Given the description of an element on the screen output the (x, y) to click on. 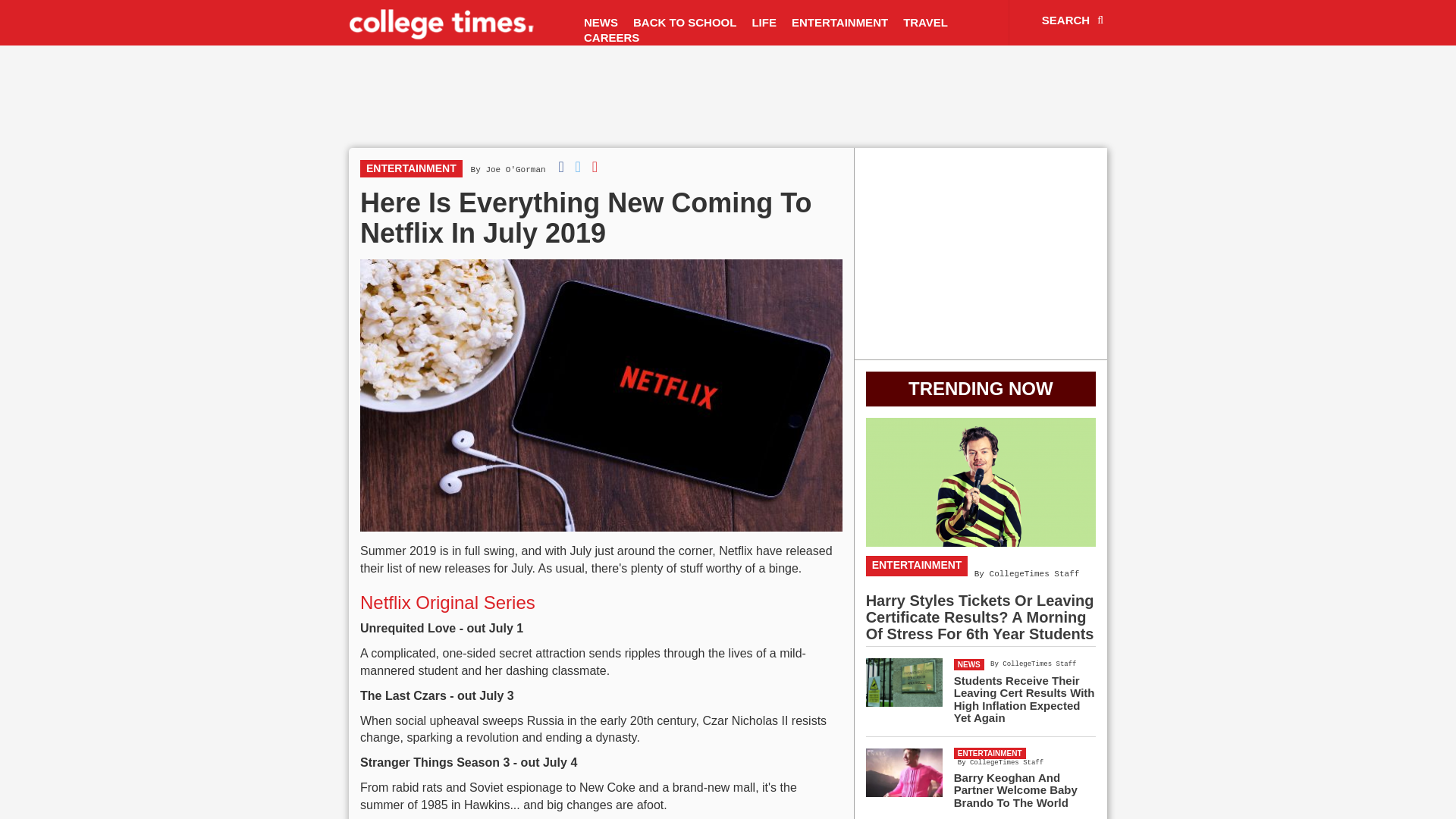
NEWS (601, 22)
CAREERS (611, 37)
ENTERTAINMENT (411, 168)
ENTERTAINMENT (839, 22)
Joe O'Gorman (514, 169)
TRAVEL (925, 22)
LIFE (764, 22)
BACK TO SCHOOL (685, 22)
